Given the description of an element on the screen output the (x, y) to click on. 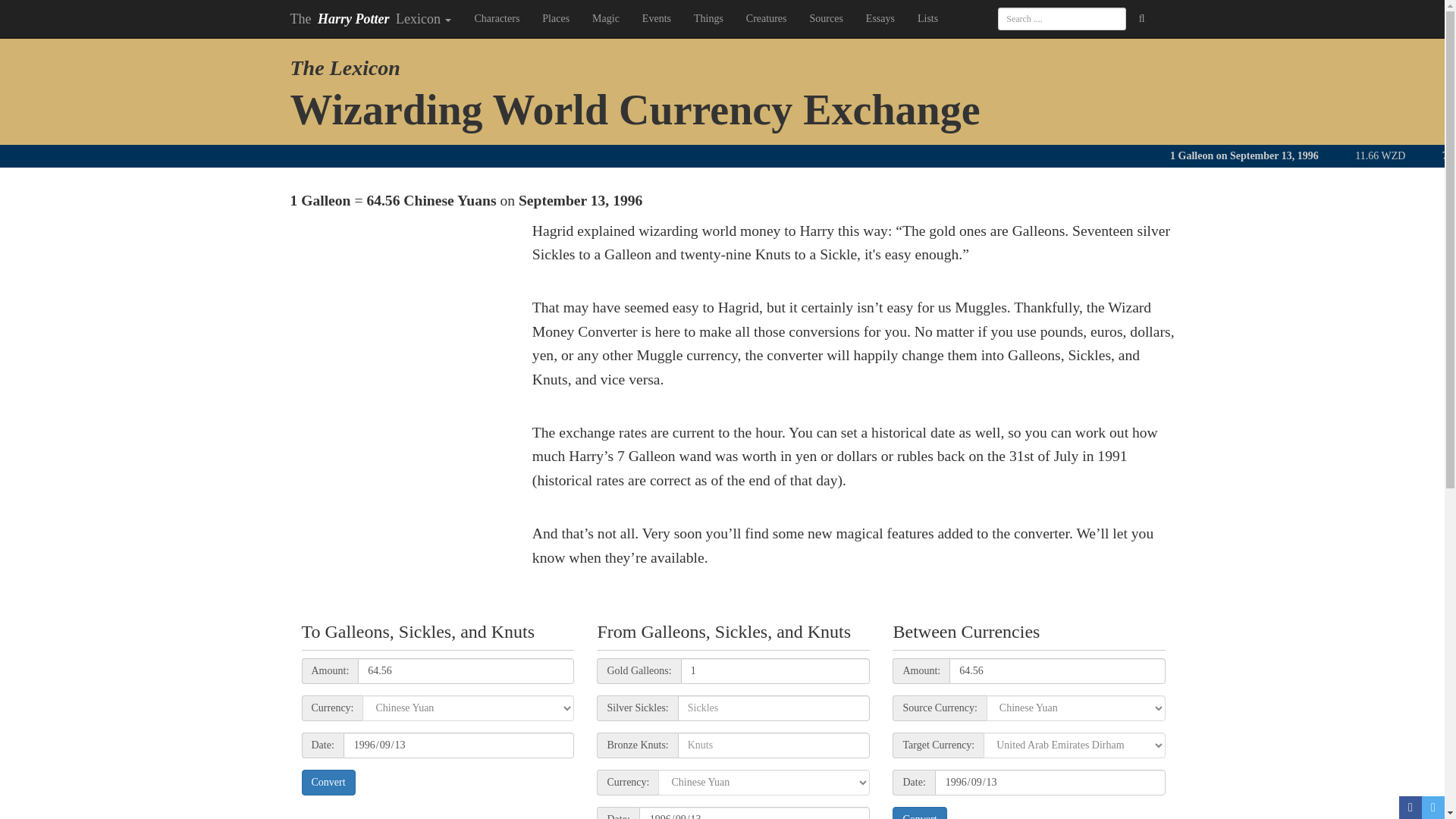
1 (775, 670)
Shops and merchants (1135, 91)
Shops and merchants (1135, 89)
1996-09-13 (1050, 782)
Places (555, 18)
Characters (497, 18)
1996-09-13 (459, 745)
1996-09-13 (754, 812)
The Harry Potter Lexicon (371, 18)
Magic (605, 18)
64.56 (465, 670)
64.56 (1057, 670)
